Given the description of an element on the screen output the (x, y) to click on. 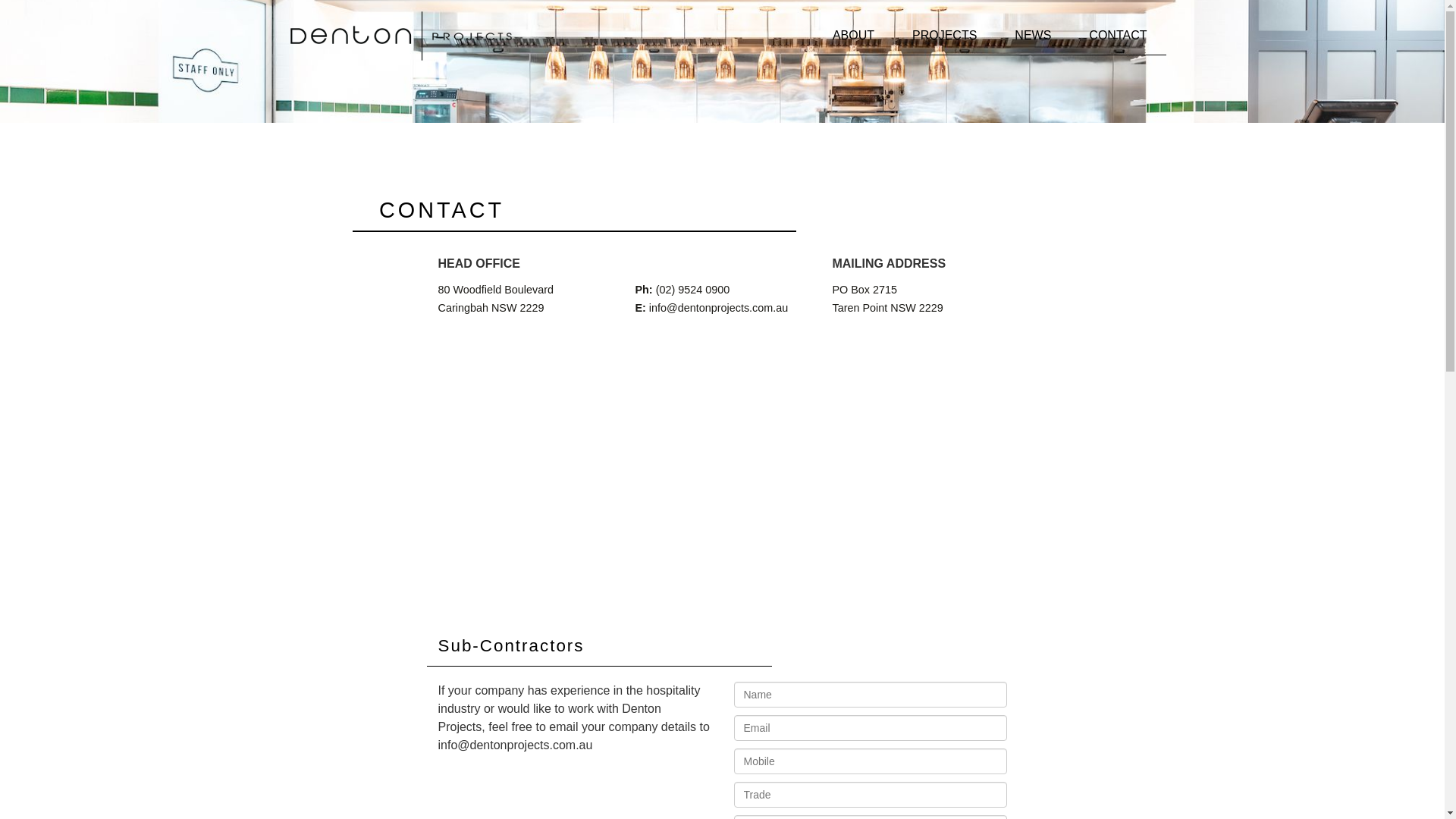
PROJECTS Element type: text (944, 35)
CONTACT Element type: text (1117, 35)
ABOUT Element type: text (853, 35)
NEWS Element type: text (1032, 35)
